Given the description of an element on the screen output the (x, y) to click on. 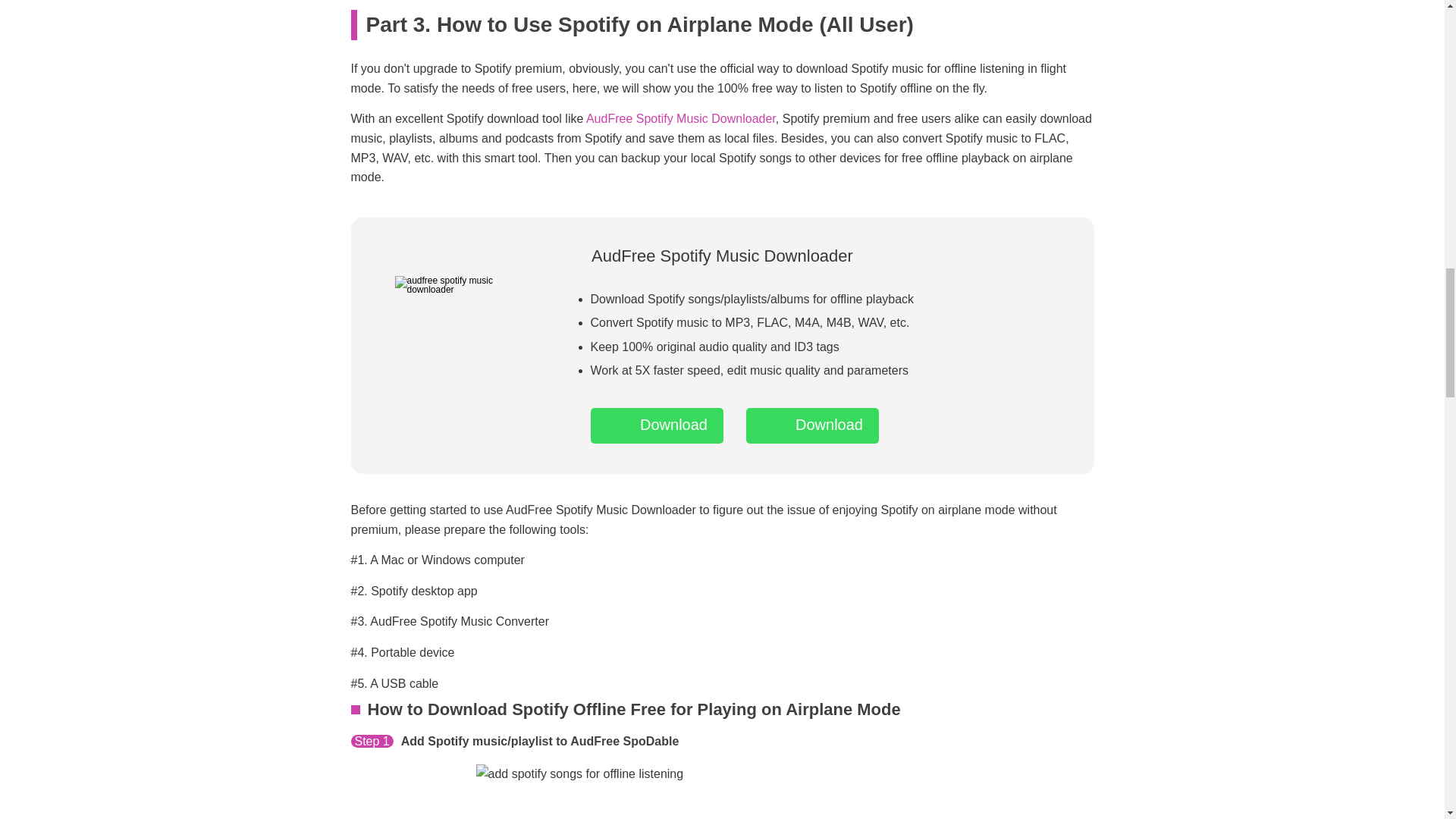
AudFree Spotify Music Downloader (681, 118)
Download (655, 425)
Download (812, 425)
